Given the description of an element on the screen output the (x, y) to click on. 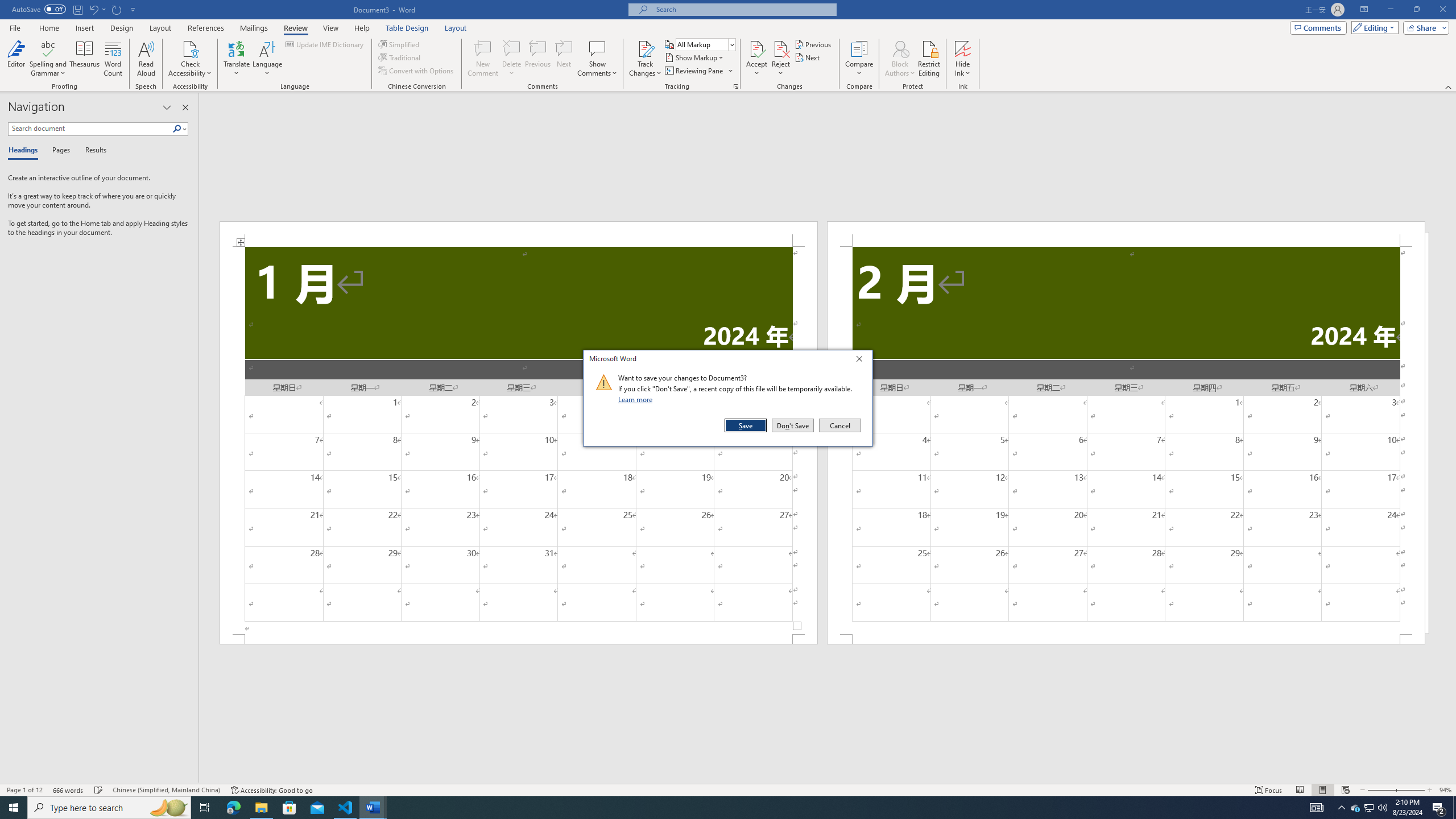
Mailings (253, 28)
Headings (25, 150)
Visual Studio Code - 1 running window (345, 807)
Reviewing Pane (694, 69)
Display for Review (705, 44)
